Given the description of an element on the screen output the (x, y) to click on. 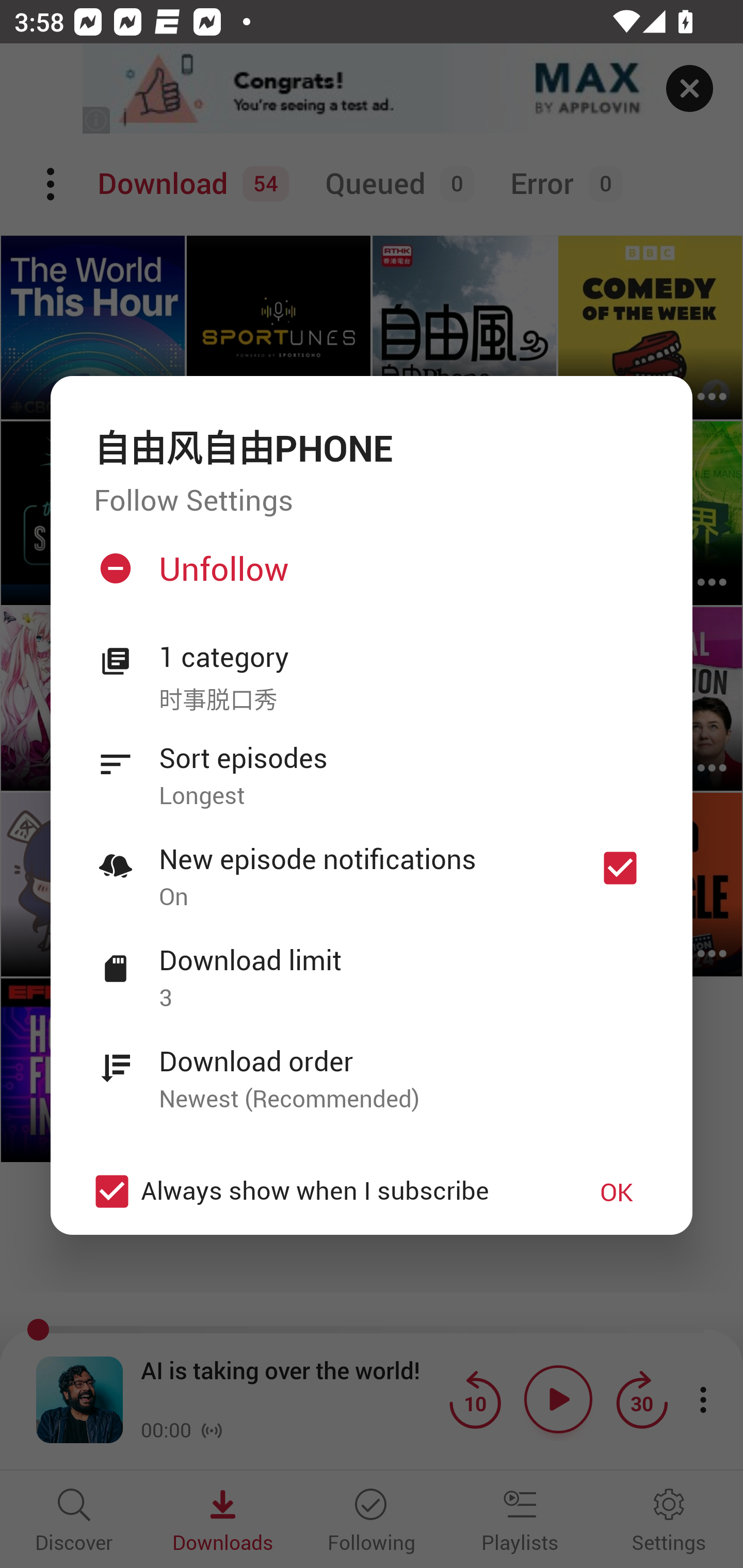
Unfollow (369, 576)
1 category (404, 657)
时事脱口秀 (404, 697)
Sort episodes Longest (371, 765)
New episode notifications (620, 867)
Download limit 3 (371, 967)
Download order Newest (Recommended) (371, 1068)
OK (616, 1191)
Always show when I subscribe (320, 1190)
